Given the description of an element on the screen output the (x, y) to click on. 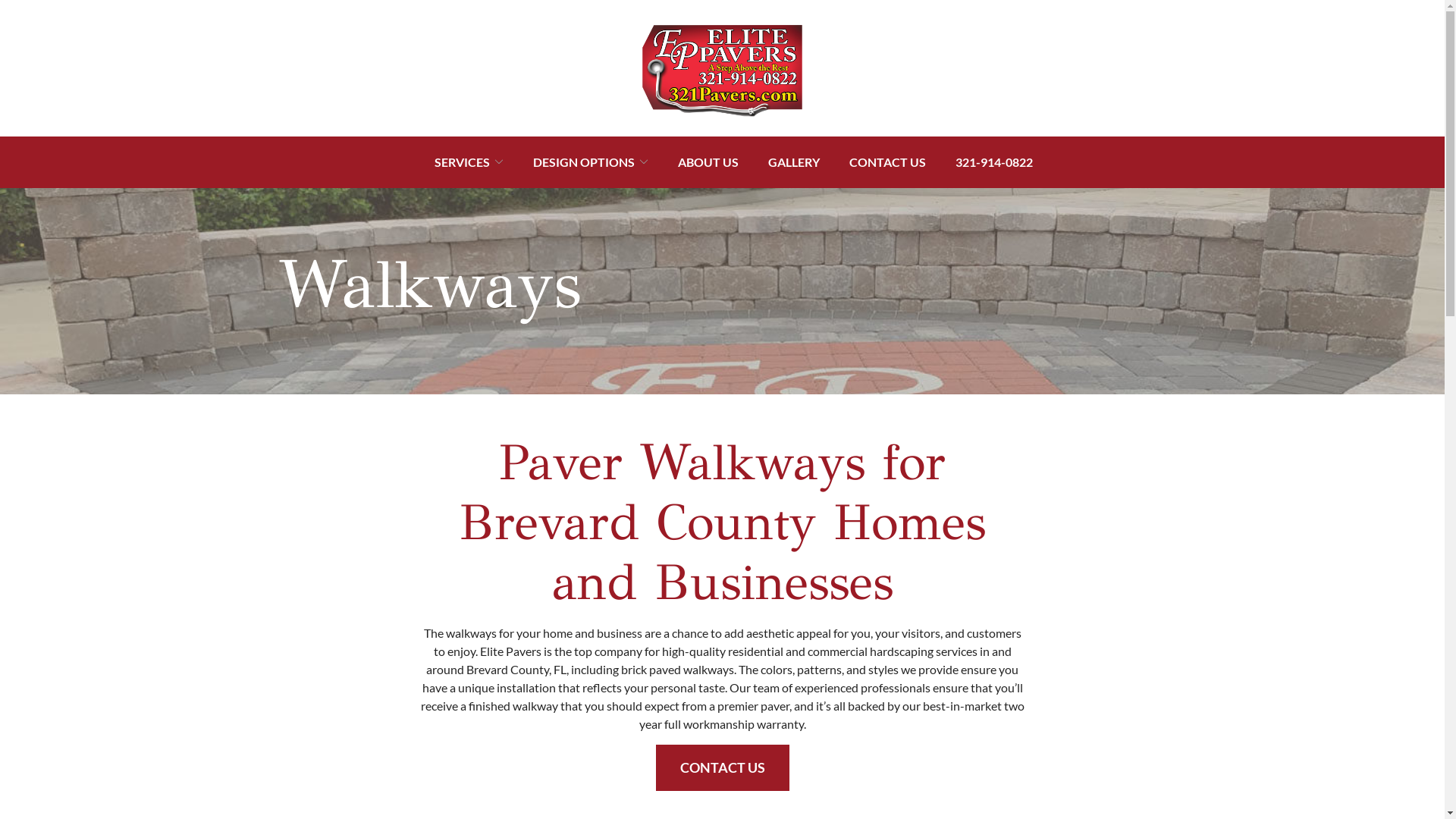
GALLERY Element type: text (793, 161)
ABOUT US Element type: text (707, 161)
CONTACT US Element type: text (887, 161)
SERVICES Element type: text (468, 161)
CONTACT US Element type: text (721, 767)
321-914-0822 Element type: text (993, 161)
DESIGN OPTIONS Element type: text (590, 161)
